Given the description of an element on the screen output the (x, y) to click on. 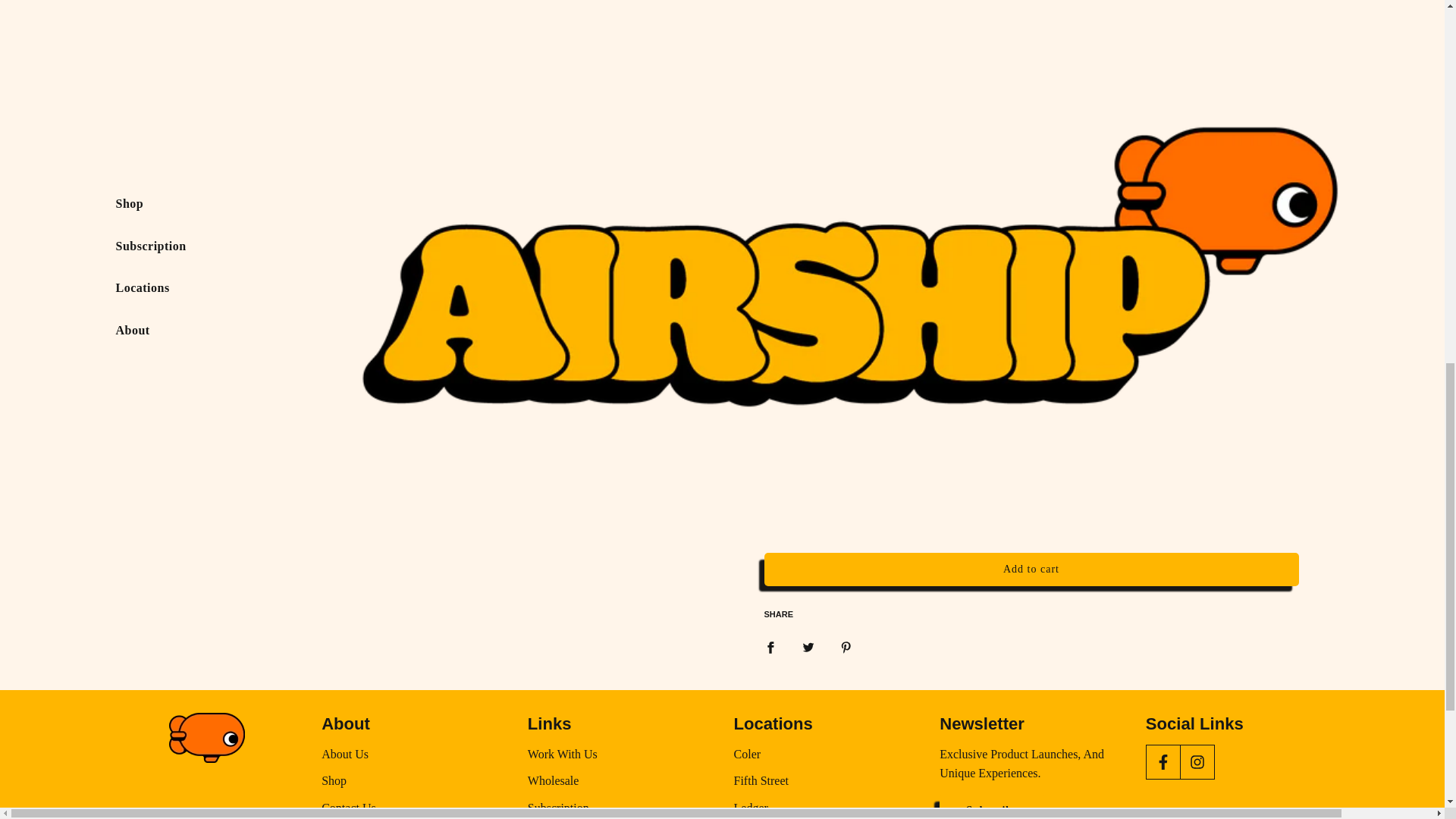
onetime (780, 491)
subscription (780, 419)
1 (796, 372)
